Given the description of an element on the screen output the (x, y) to click on. 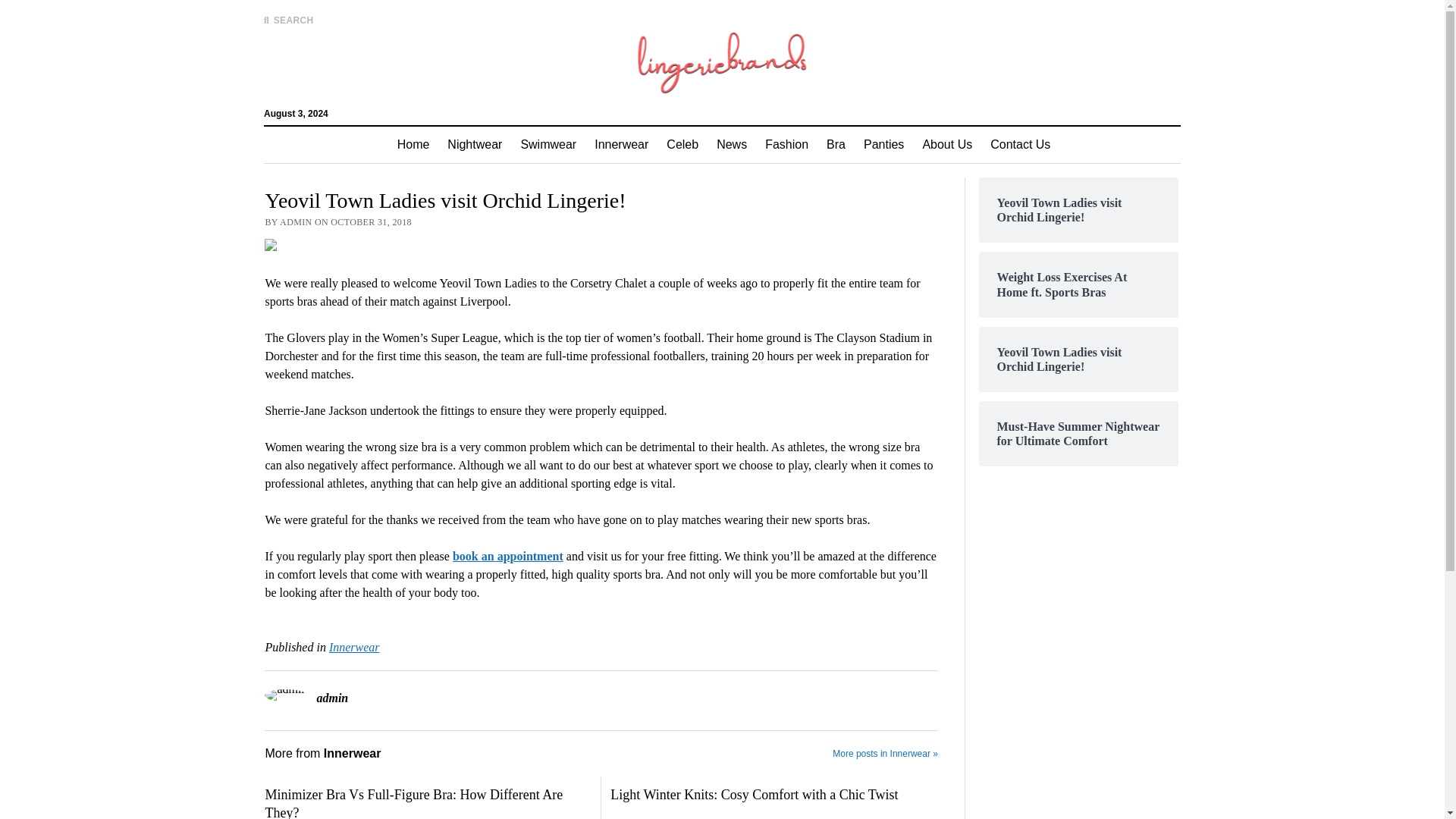
Swimwear (548, 144)
SEARCH (288, 20)
Innerwear (354, 646)
book an appointment (507, 555)
Must-Have Summer Nightwear for Ultimate Comfort (1078, 433)
Contact Us (1020, 144)
Celeb (682, 144)
About Us (946, 144)
View all posts in Innerwear (354, 646)
Panties (883, 144)
News (731, 144)
Minimizer Bra Vs Full-Figure Bra: How Different Are They? (427, 802)
Light Winter Knits: Cosy Comfort with a Chic Twist (773, 795)
Nightwear (474, 144)
Search (945, 129)
